Given the description of an element on the screen output the (x, y) to click on. 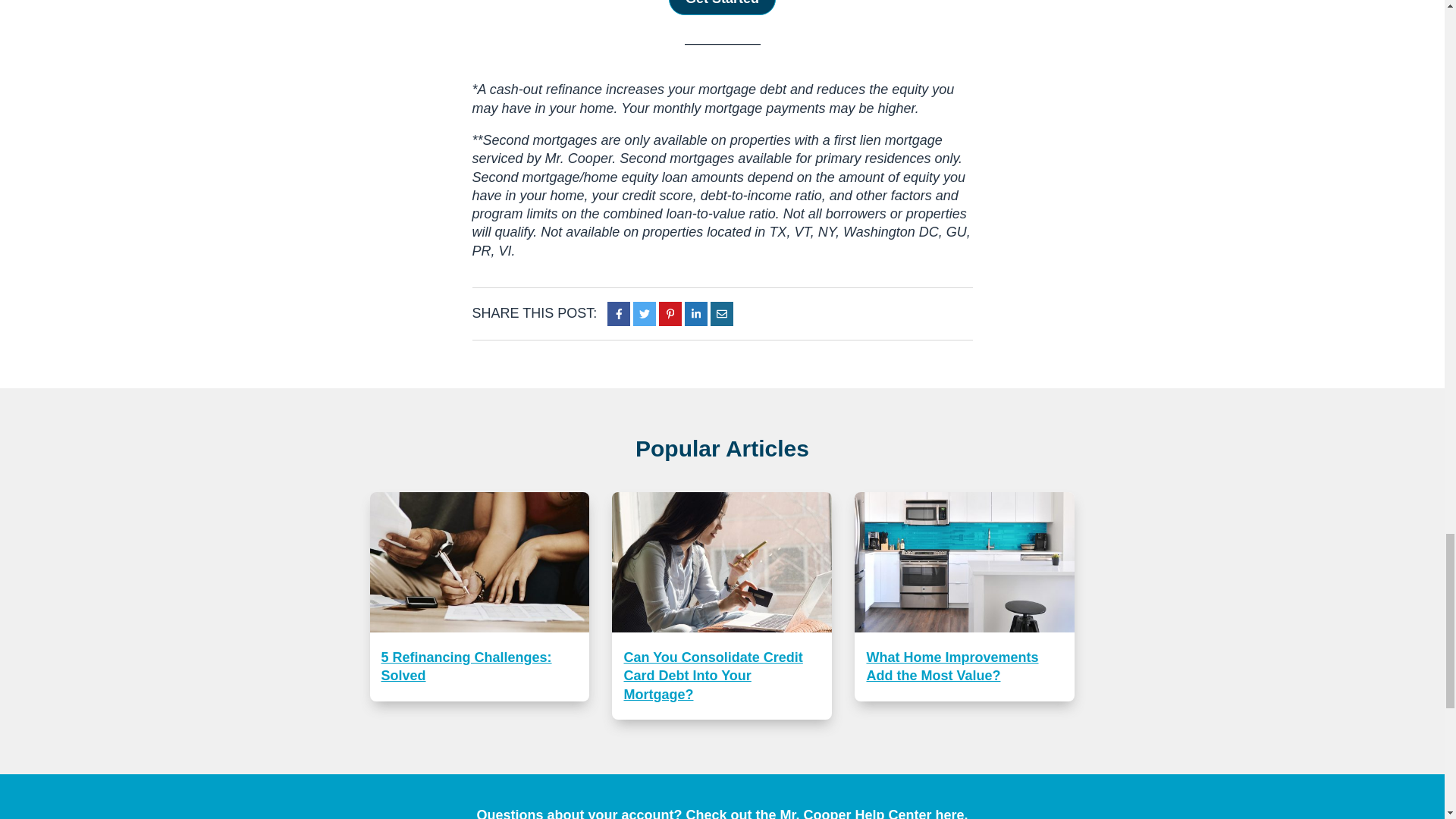
What Home Improvements Add the Most Value? (964, 596)
Can You Consolidate Credit Card Debt Into Your Mortgage? (721, 605)
5 Refinancing Challenges: Solved (479, 596)
